Given the description of an element on the screen output the (x, y) to click on. 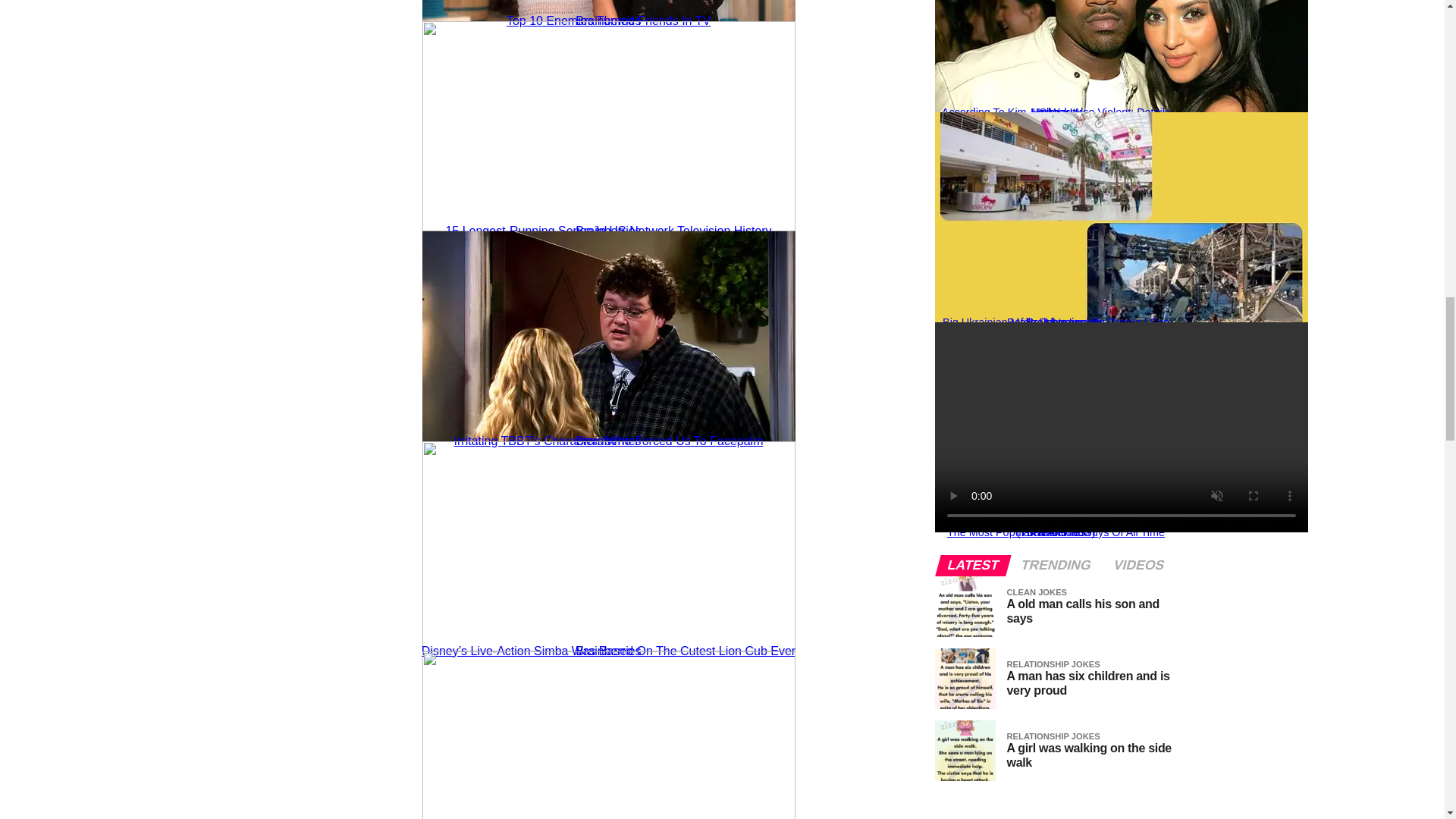
TRENDING (1055, 565)
LATEST (973, 565)
VIDEOS (1138, 565)
